Given the description of an element on the screen output the (x, y) to click on. 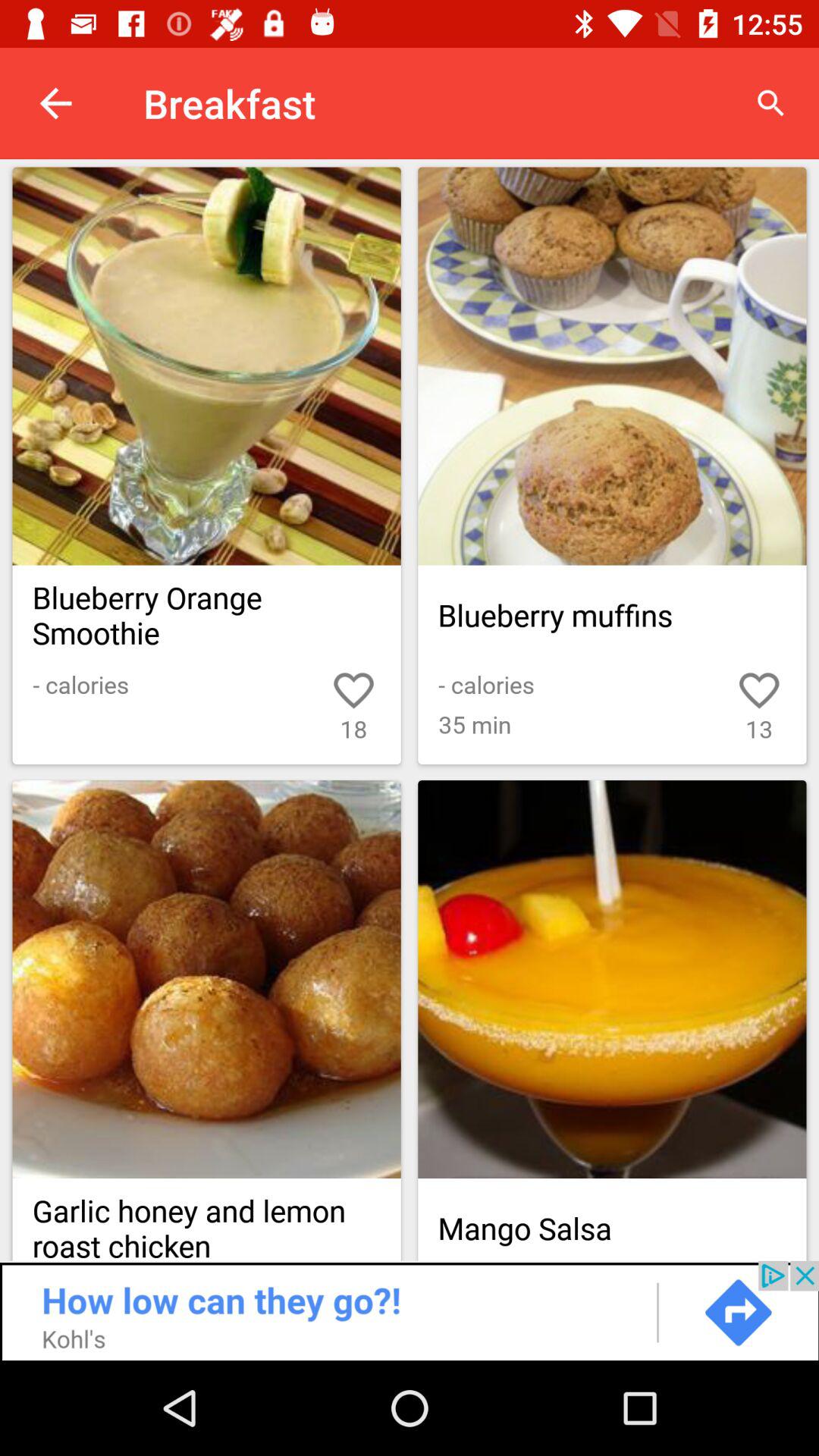
display picture (206, 979)
